Given the description of an element on the screen output the (x, y) to click on. 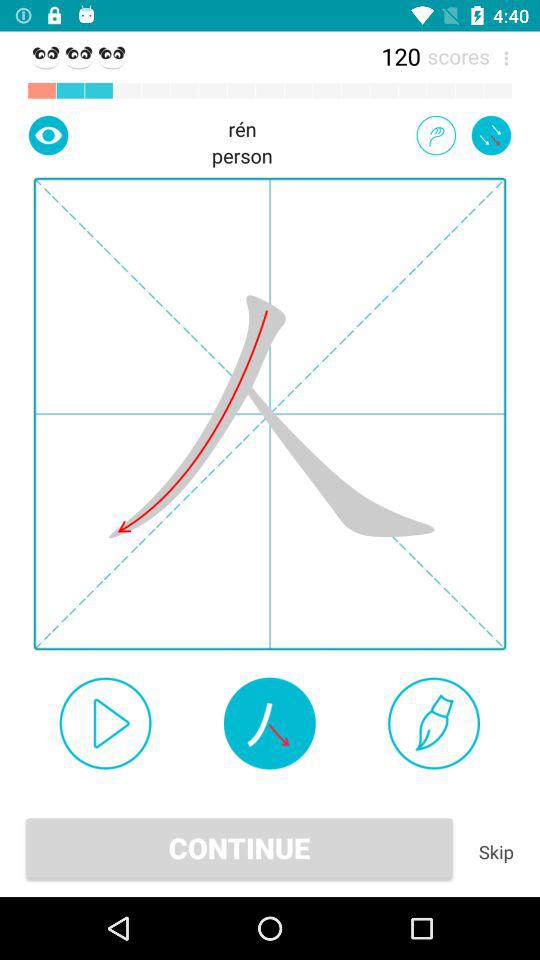
change input (436, 135)
